Given the description of an element on the screen output the (x, y) to click on. 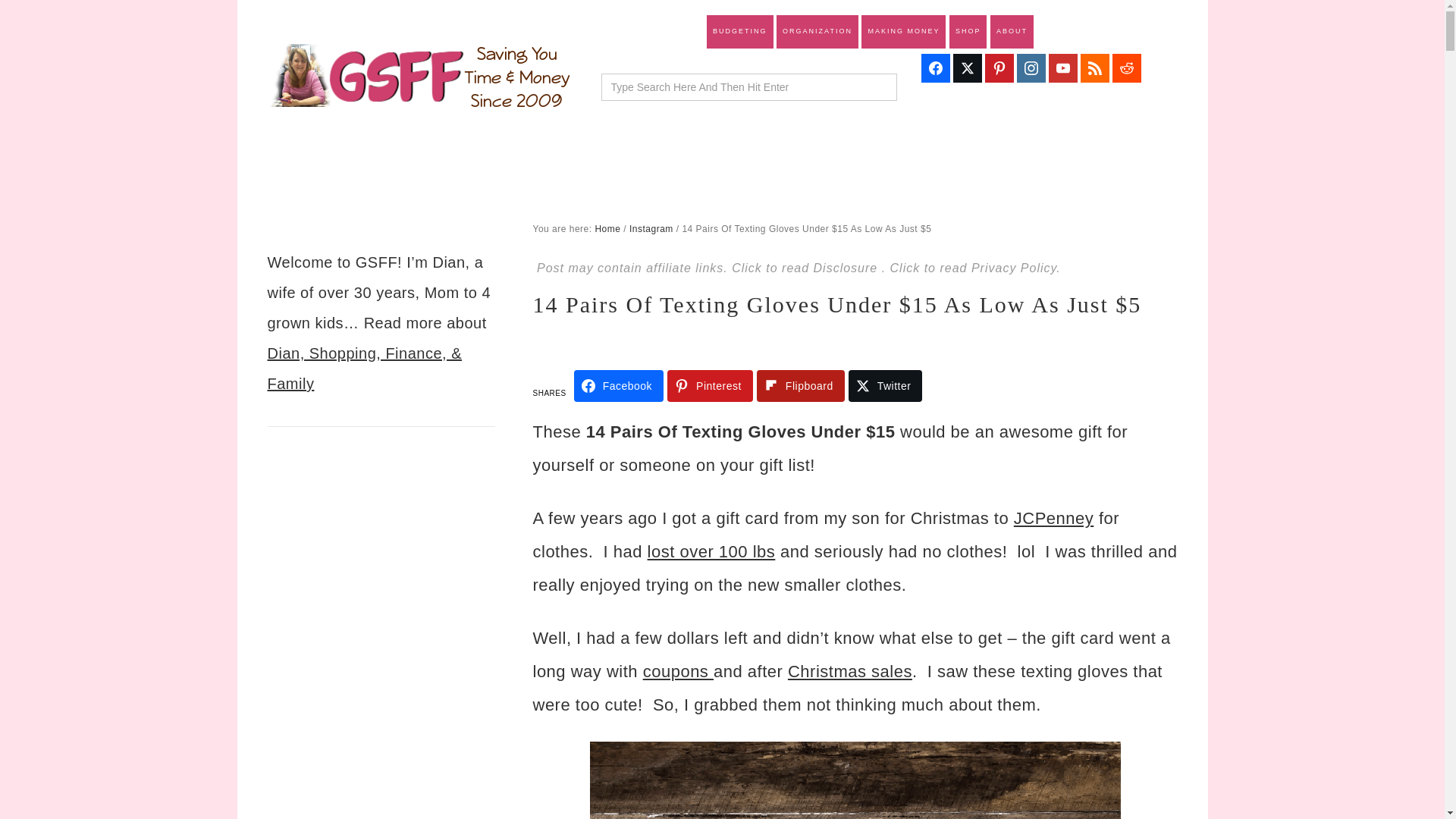
Instagram (650, 228)
Twitter (885, 386)
BUDGETING (739, 31)
MAKING MONEY (902, 31)
ABOUT (1011, 31)
Pinterest (709, 386)
Share on Pinterest (709, 386)
SHOP (968, 31)
Disclosure (847, 267)
Facebook (618, 386)
Share on Flipboard (800, 386)
coupons (678, 670)
JCPenney (1053, 517)
Christmas sales (849, 670)
Share on Twitter (885, 386)
